Given the description of an element on the screen output the (x, y) to click on. 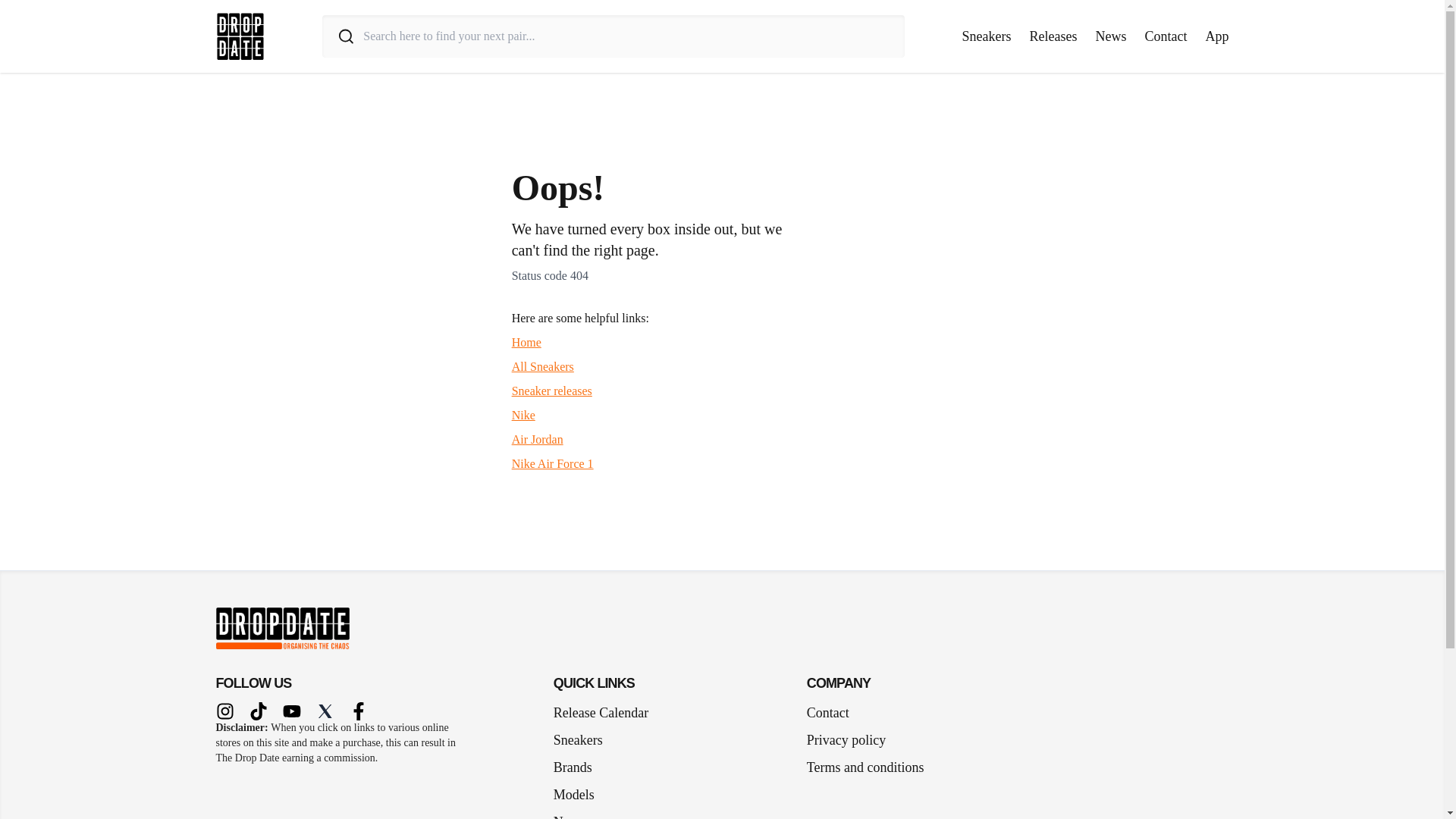
Nike (523, 414)
Brands (578, 767)
News (1109, 36)
News (574, 810)
Terms and conditions (865, 767)
Contact (827, 712)
All Sneakers (542, 366)
Sneaker releases (552, 390)
Releases (1053, 36)
App (1216, 36)
